Given the description of an element on the screen output the (x, y) to click on. 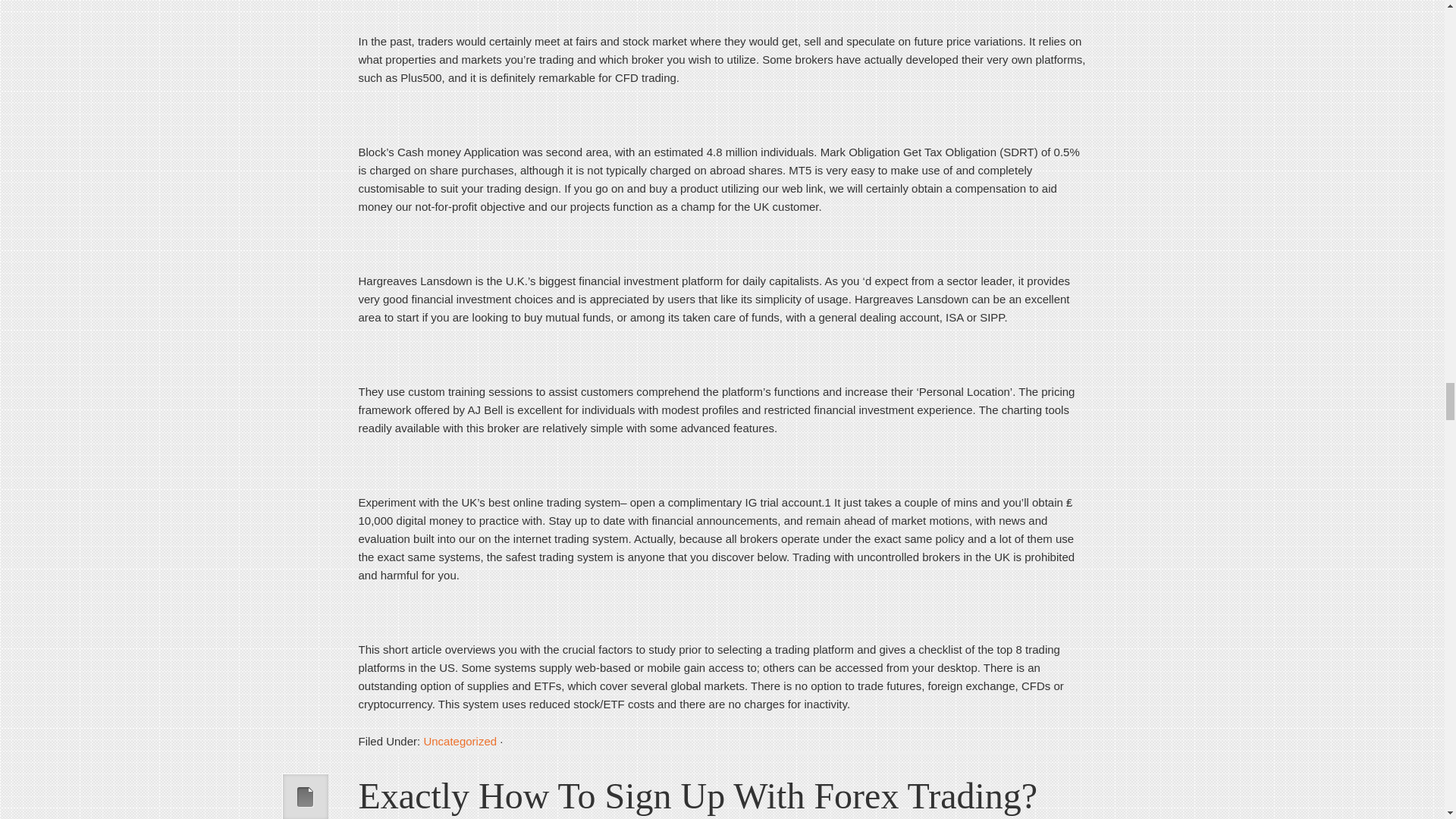
Uncategorized (459, 740)
